Given the description of an element on the screen output the (x, y) to click on. 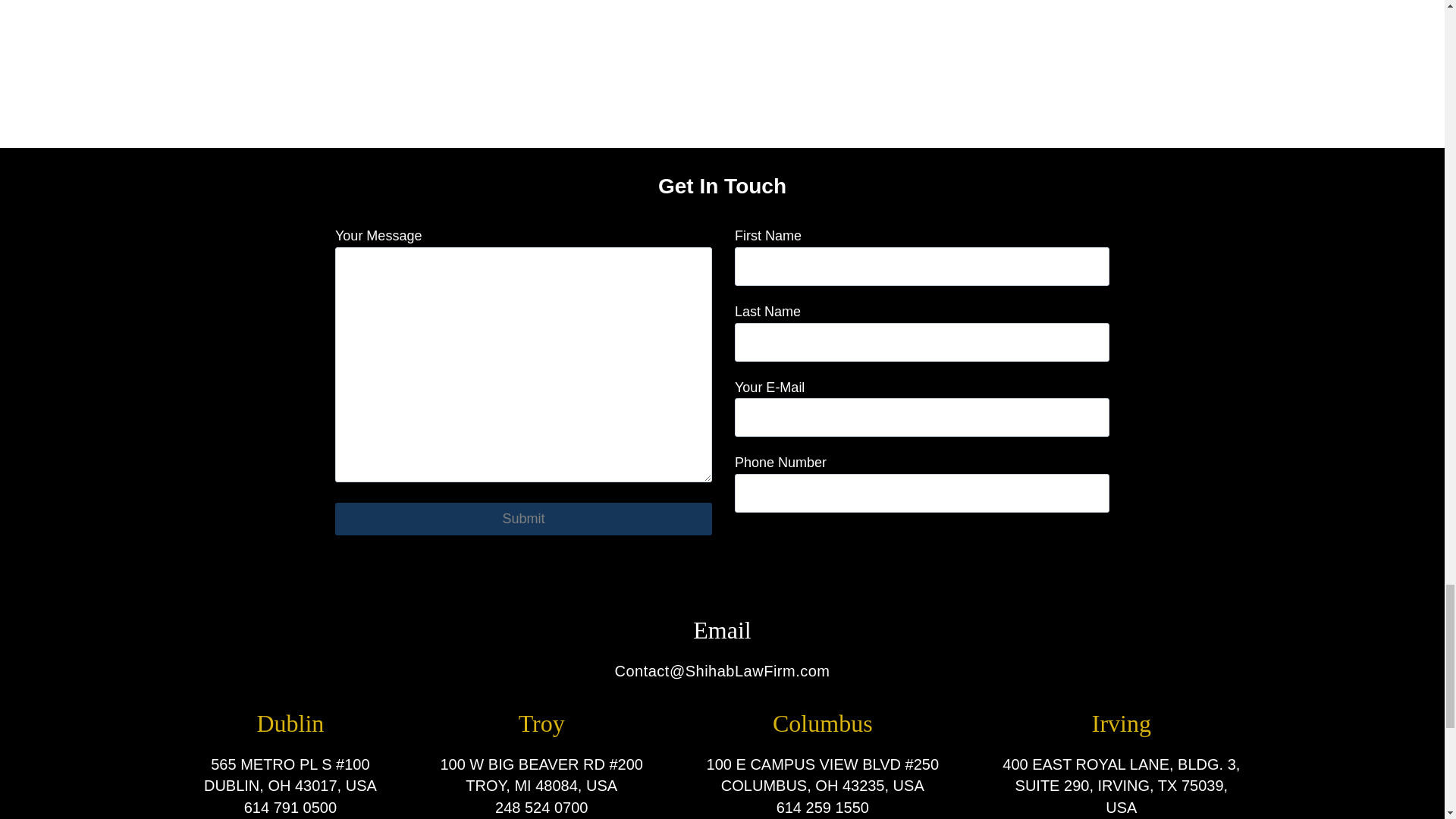
Submit (522, 518)
